Given the description of an element on the screen output the (x, y) to click on. 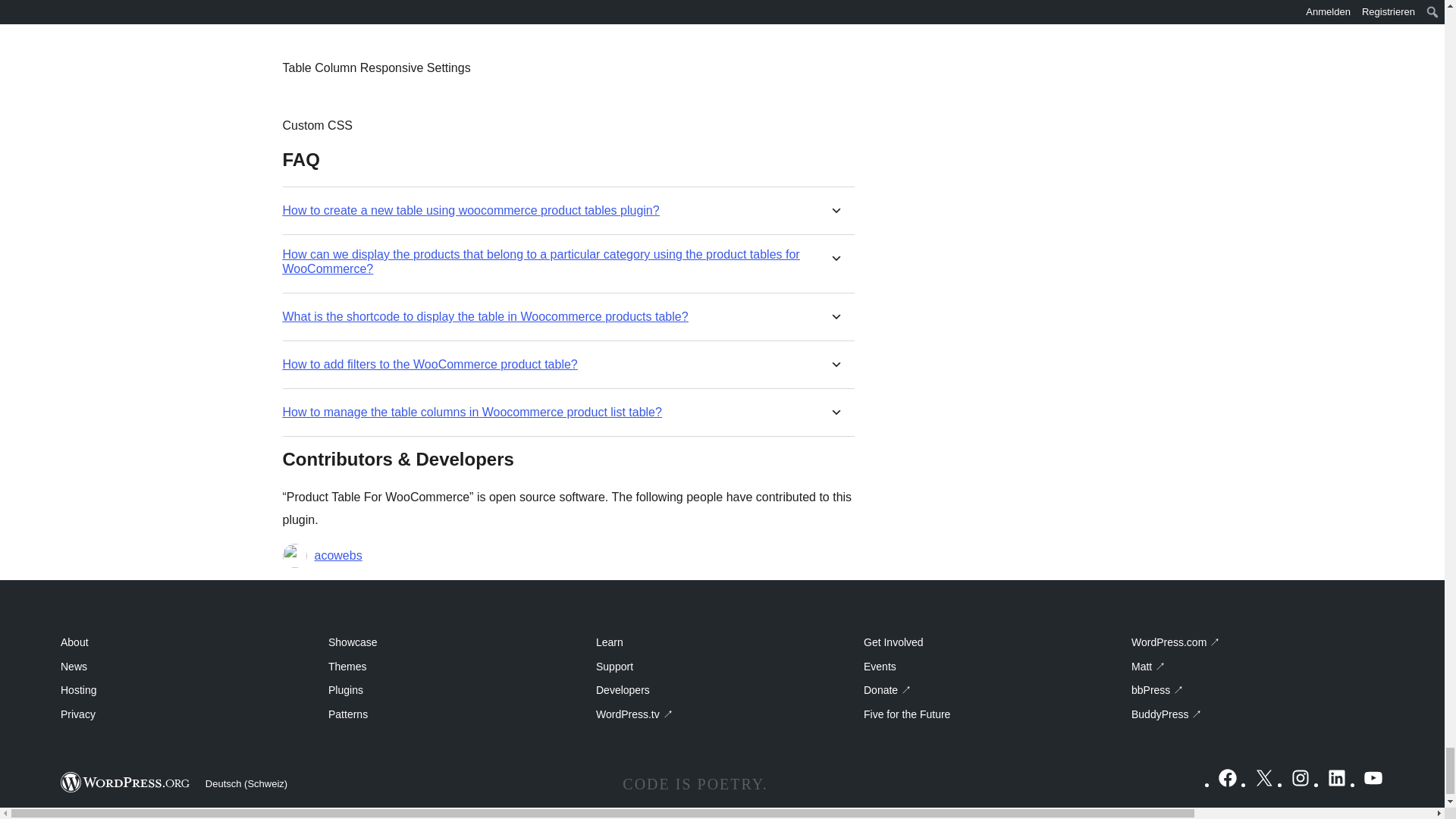
WordPress.org (125, 782)
